Given the description of an element on the screen output the (x, y) to click on. 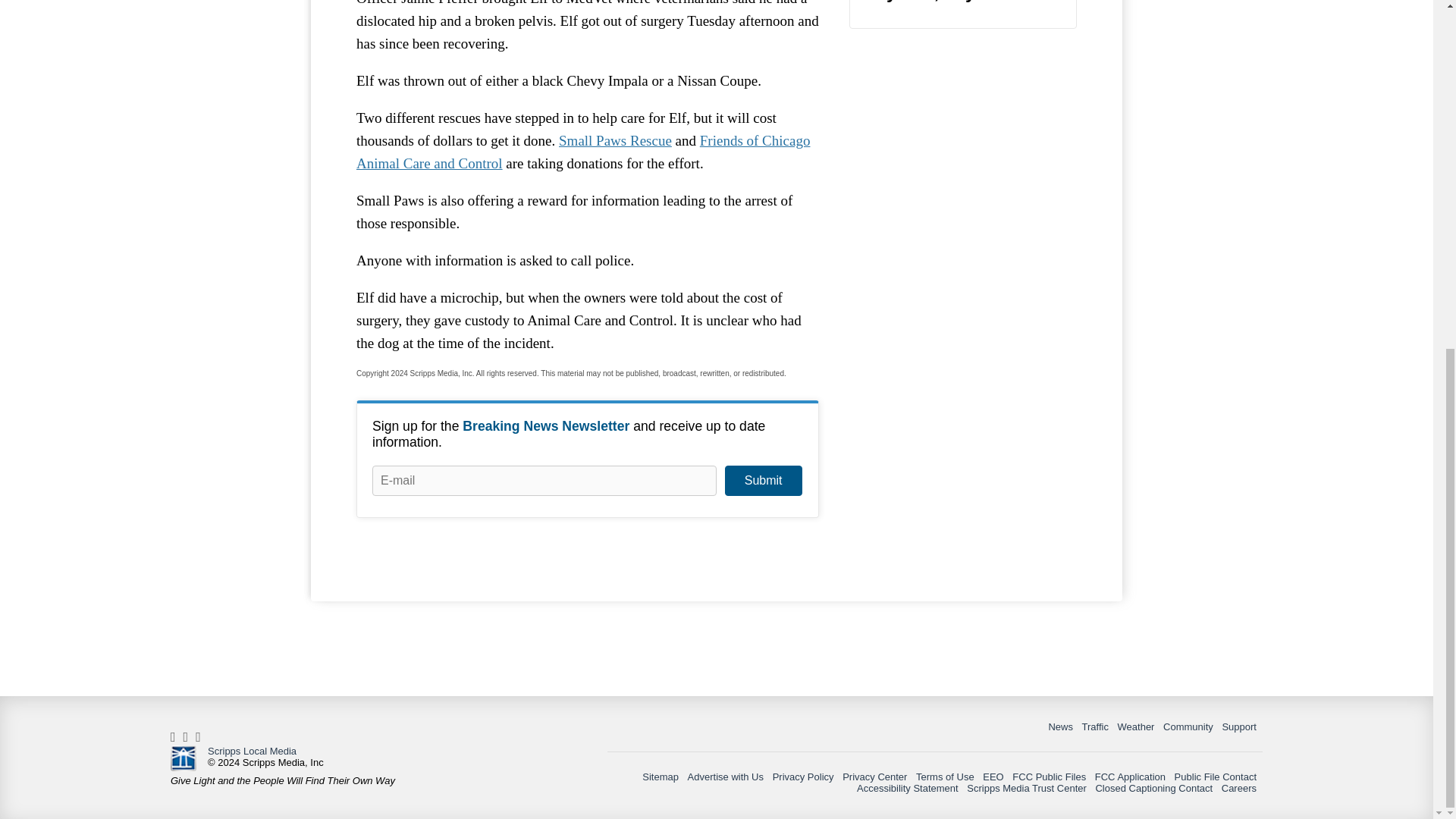
Submit (763, 481)
